Given the description of an element on the screen output the (x, y) to click on. 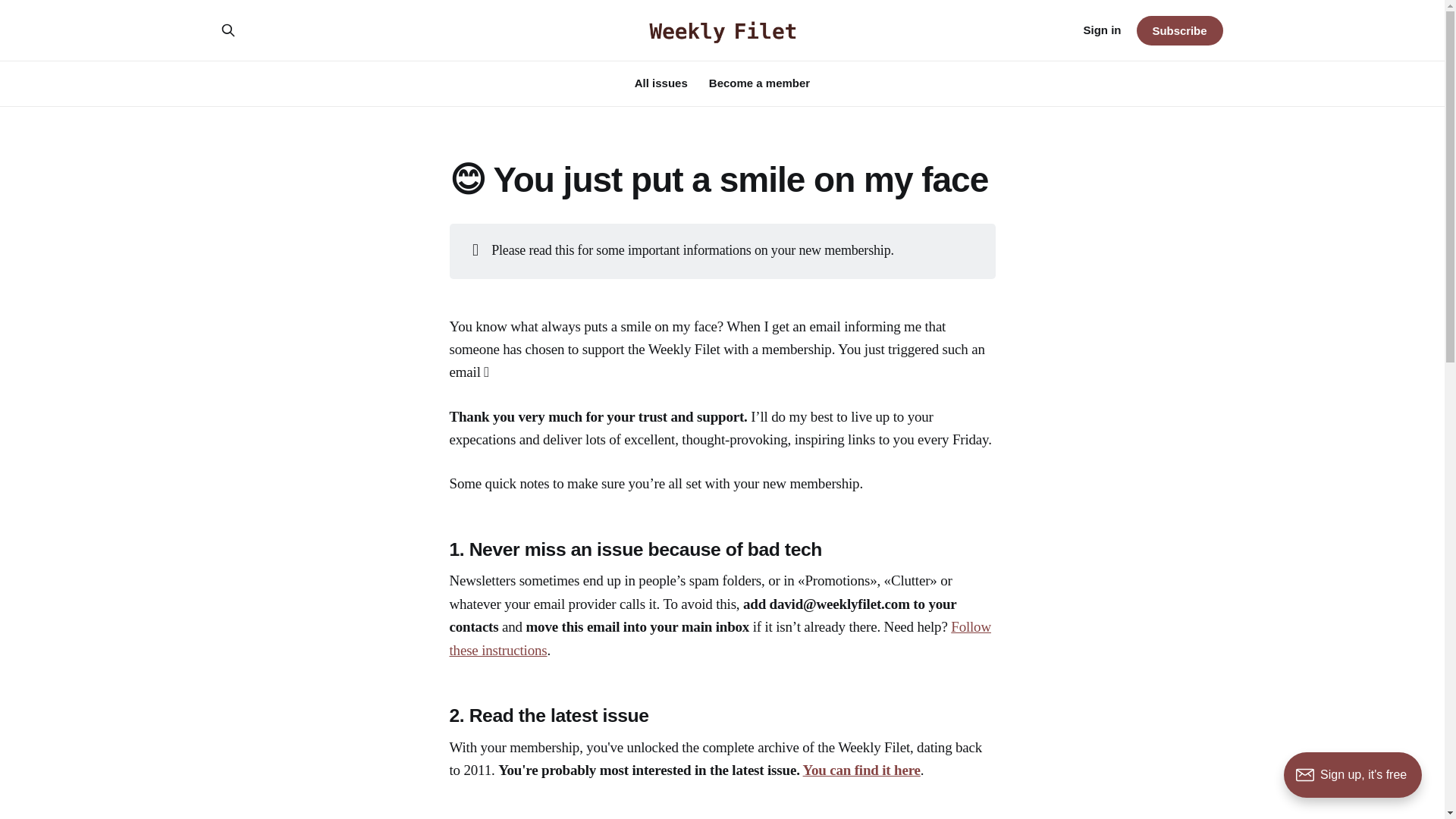
You can find it here (861, 770)
Become a member (759, 82)
Sign in (1102, 30)
All issues (660, 82)
Subscribe (1179, 30)
Follow these instructions (719, 638)
